Given the description of an element on the screen output the (x, y) to click on. 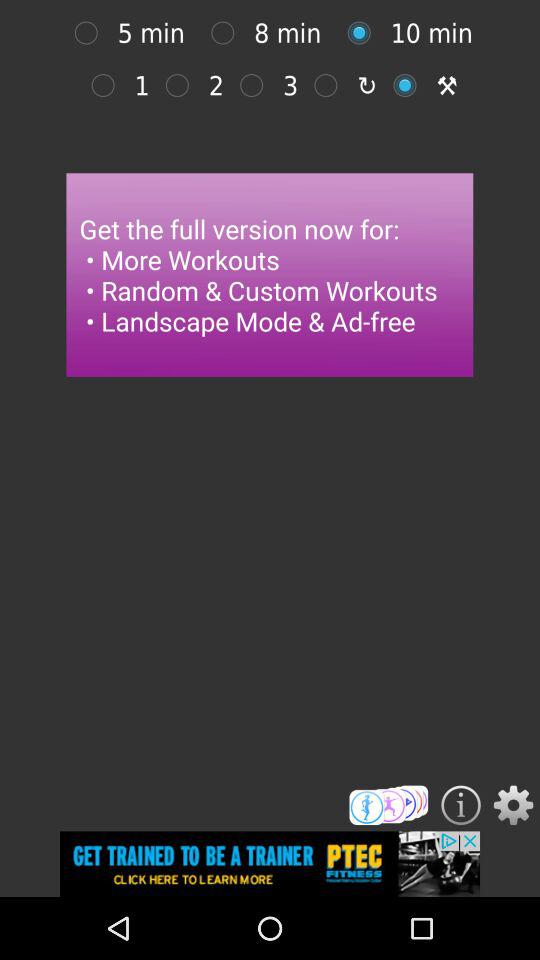
click to select (256, 85)
